Given the description of an element on the screen output the (x, y) to click on. 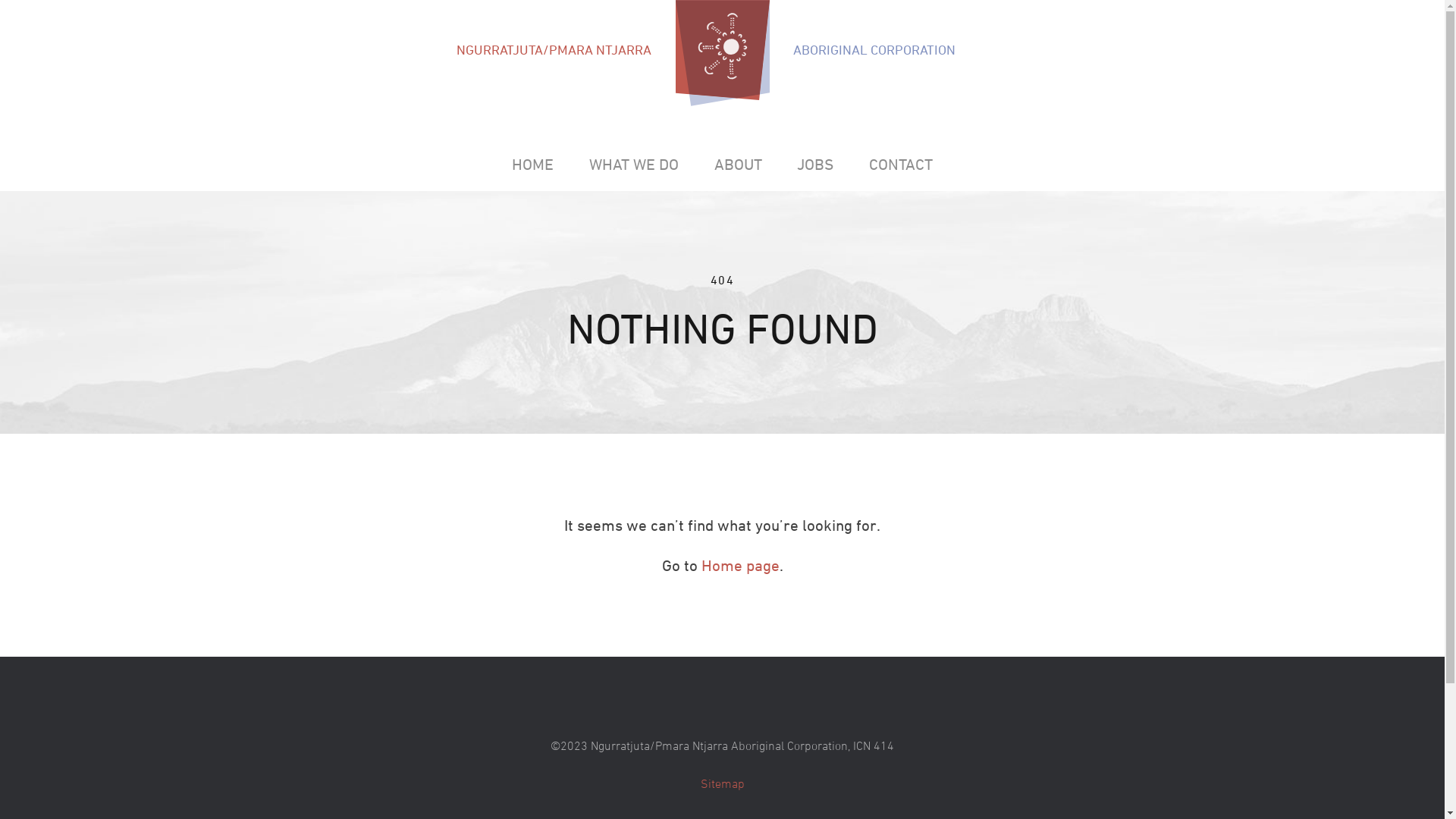
JOBS Element type: text (815, 164)
Skip to content Element type: text (721, 138)
NGURRATJUTA/PMARA NTJARRA
ABORIGINAL CORPORATION Element type: text (721, 53)
Home page Element type: text (739, 565)
CONTACT Element type: text (900, 164)
Sitemap Element type: text (722, 783)
WHAT WE DO Element type: text (633, 164)
ABOUT Element type: text (737, 164)
HOME Element type: text (532, 164)
